Given the description of an element on the screen output the (x, y) to click on. 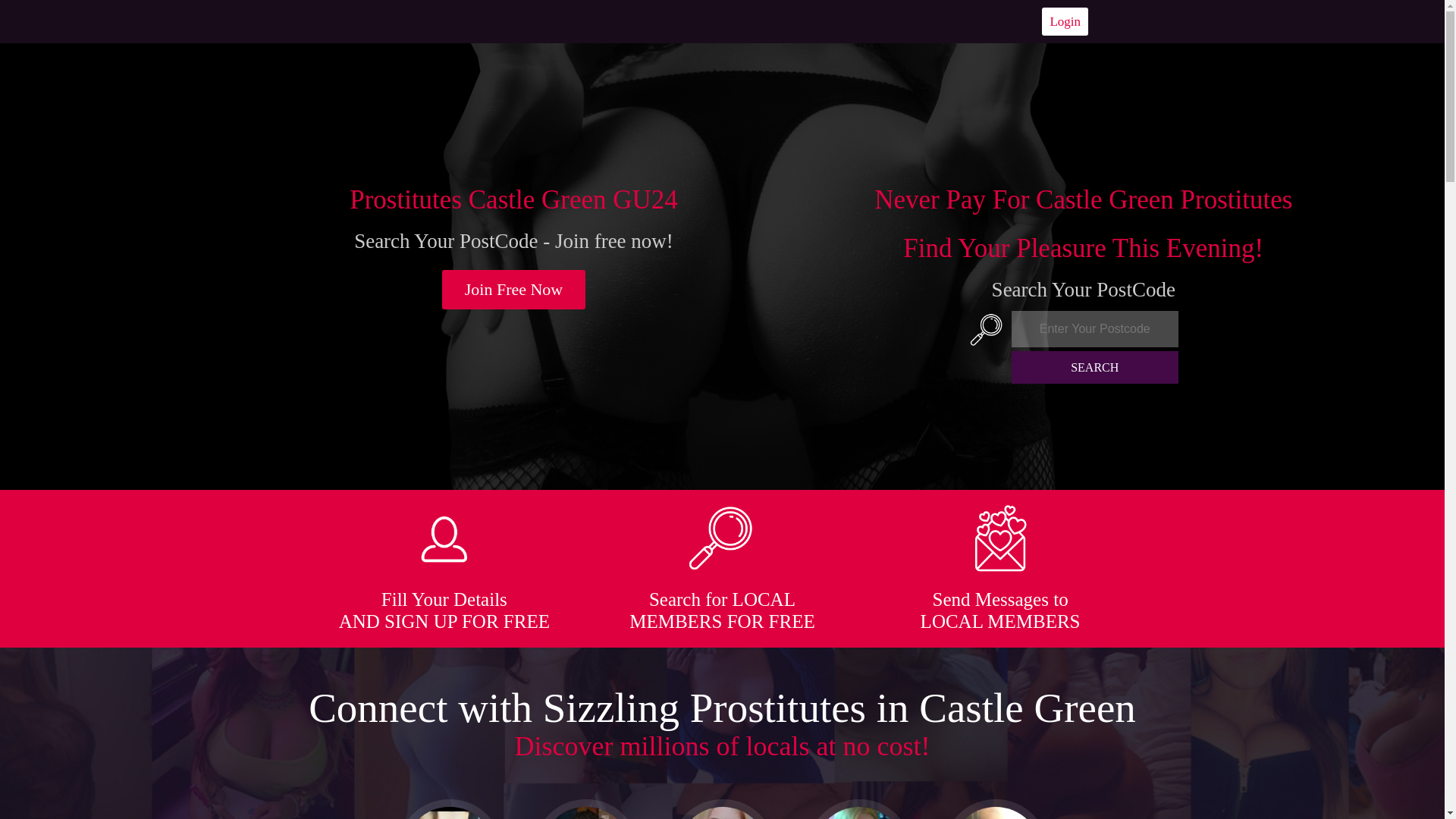
Login (1064, 21)
Join (514, 289)
SEARCH (1094, 367)
Login (1064, 21)
Join Free Now (514, 289)
